Given the description of an element on the screen output the (x, y) to click on. 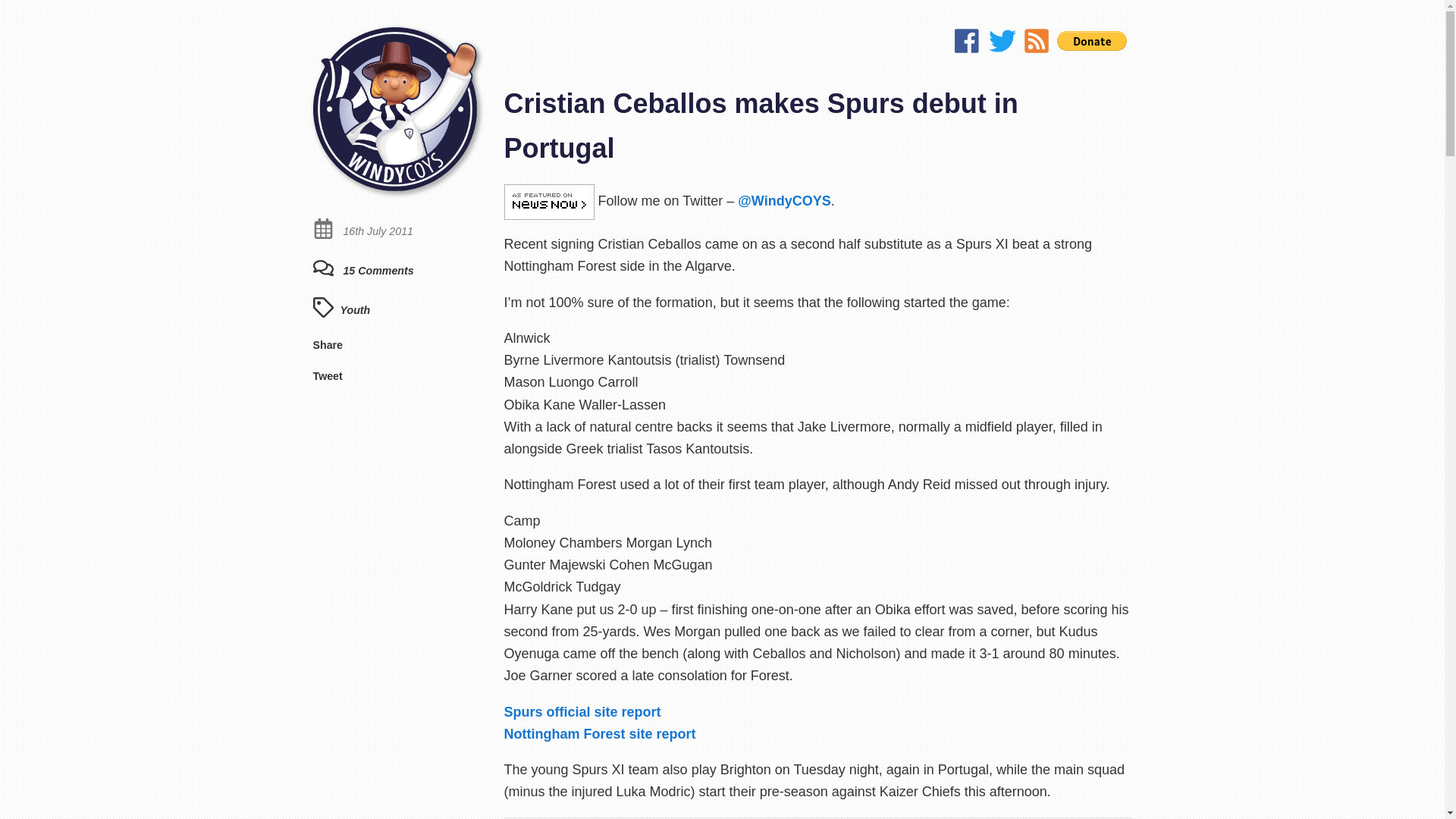
Share (327, 345)
Spurs official site report (582, 711)
Youth (354, 309)
Nottingham Forest site report (599, 734)
Tweet (327, 375)
15 Comments (363, 270)
